Given the description of an element on the screen output the (x, y) to click on. 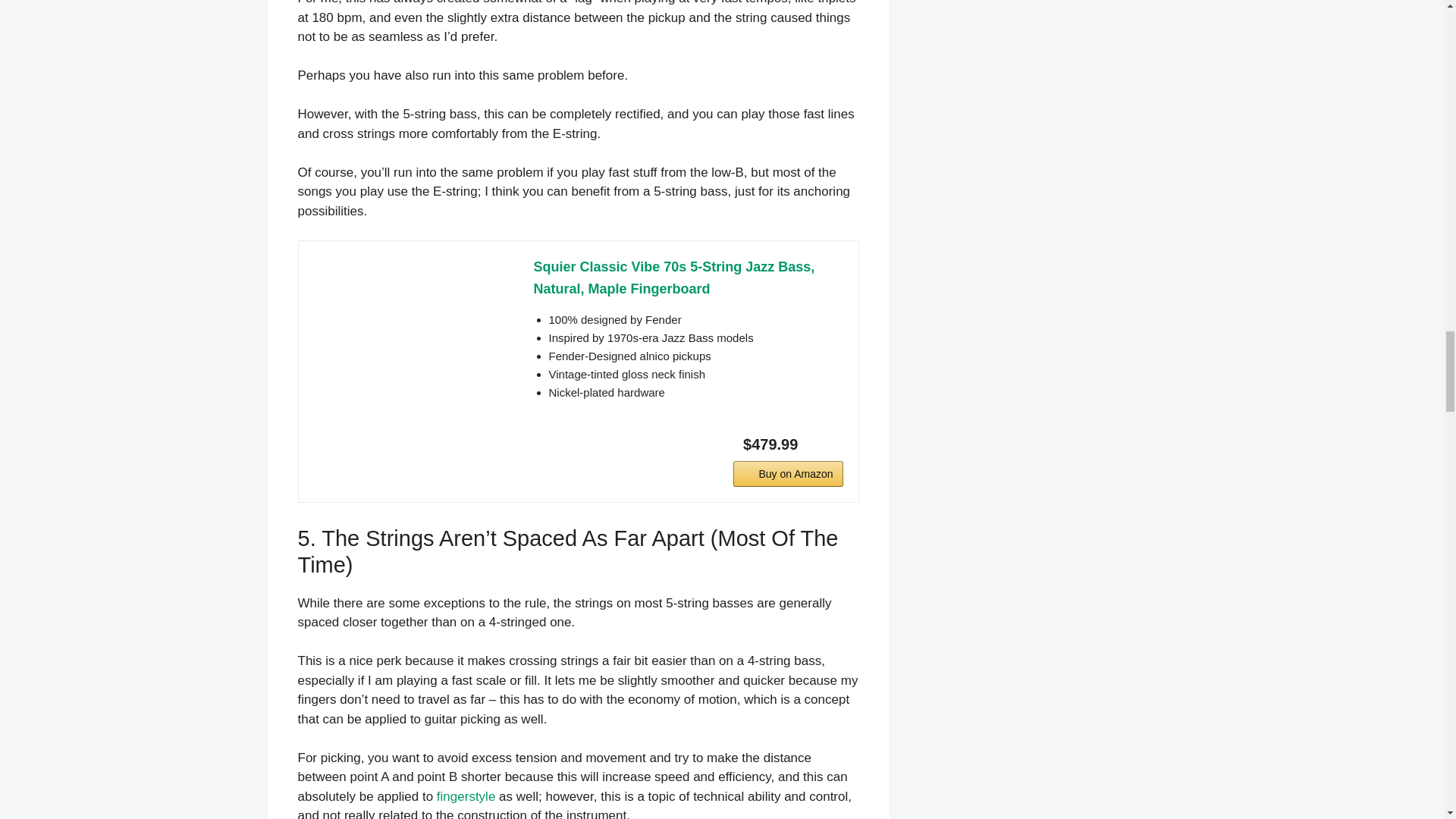
Buy on Amazon (788, 473)
Reviews on Amazon (407, 277)
Amazon Prime (821, 442)
